Given the description of an element on the screen output the (x, y) to click on. 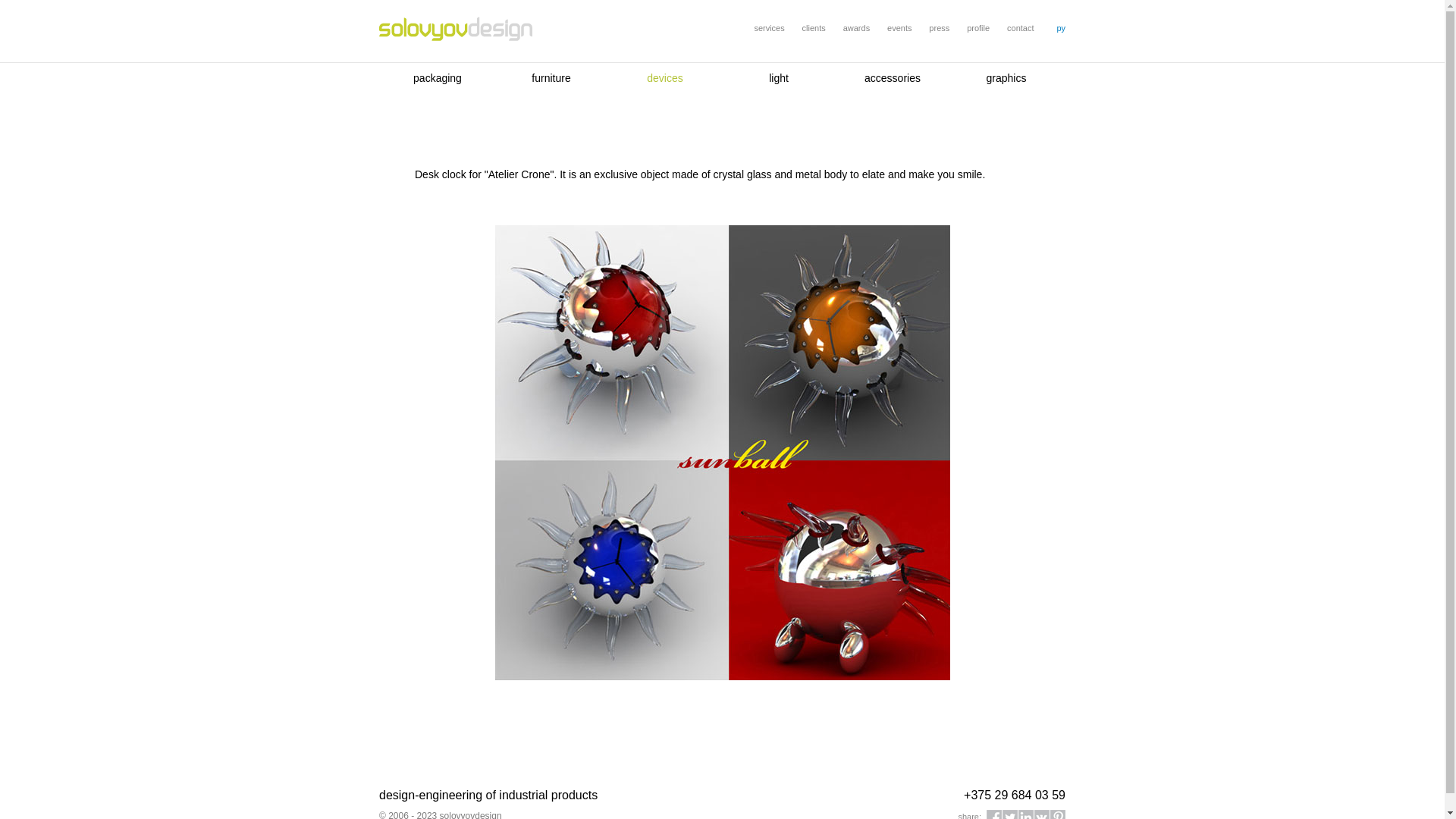
furniture Element type: text (550, 78)
contact Element type: text (1020, 27)
py Element type: text (1060, 27)
profile Element type: text (977, 27)
services Element type: text (768, 27)
+375 29 684 03 59 Element type: text (1014, 794)
SOLOVYOVDESIGN Element type: text (455, 29)
press Element type: text (938, 27)
graphics Element type: text (1006, 78)
light Element type: text (778, 78)
accessories Element type: text (892, 78)
clients Element type: text (813, 27)
events Element type: text (899, 27)
devices Element type: text (664, 78)
awards Element type: text (856, 27)
packaging Element type: text (437, 78)
